Given the description of an element on the screen output the (x, y) to click on. 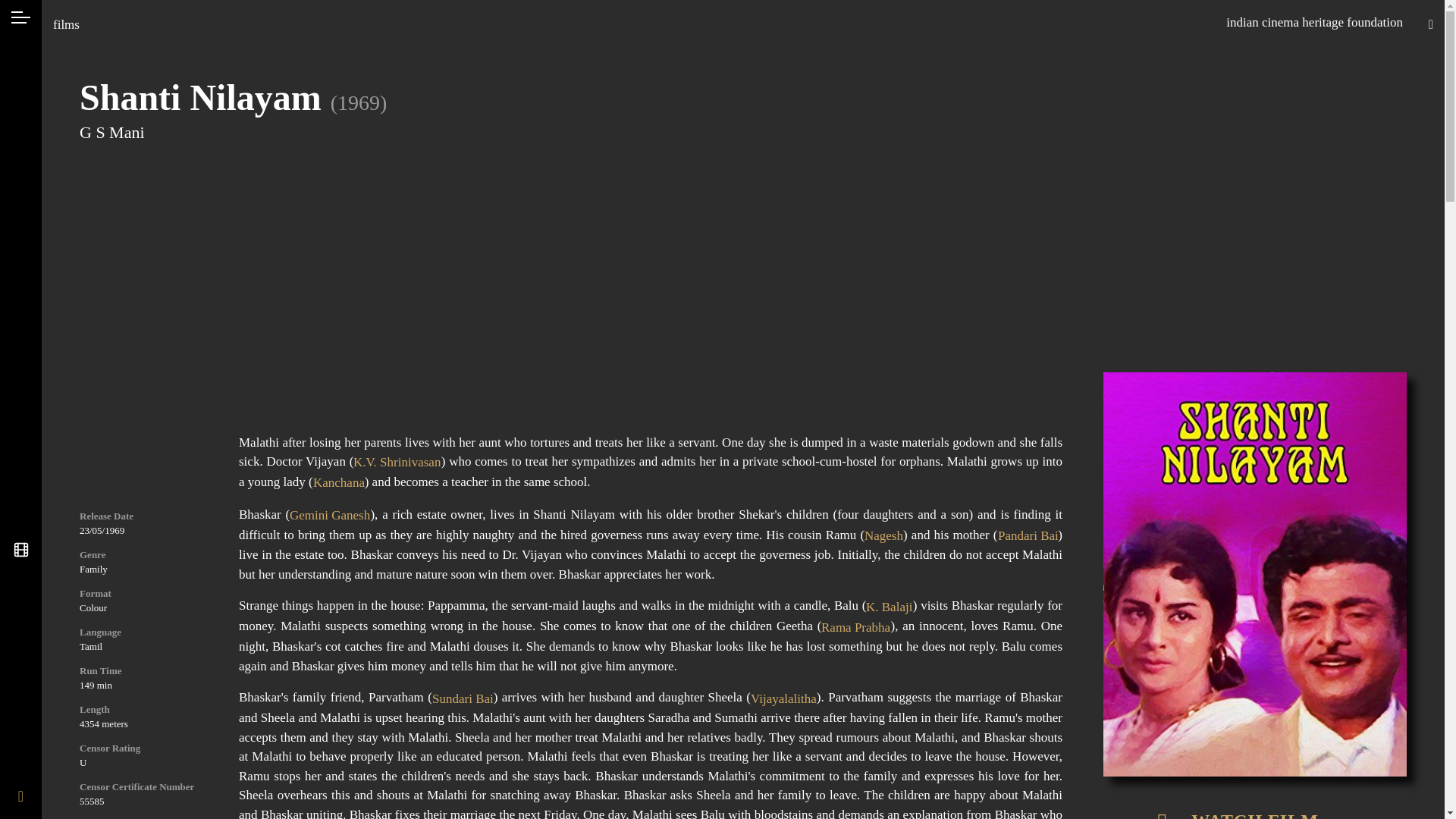
indian cinema heritage foundation (1314, 22)
